Given the description of an element on the screen output the (x, y) to click on. 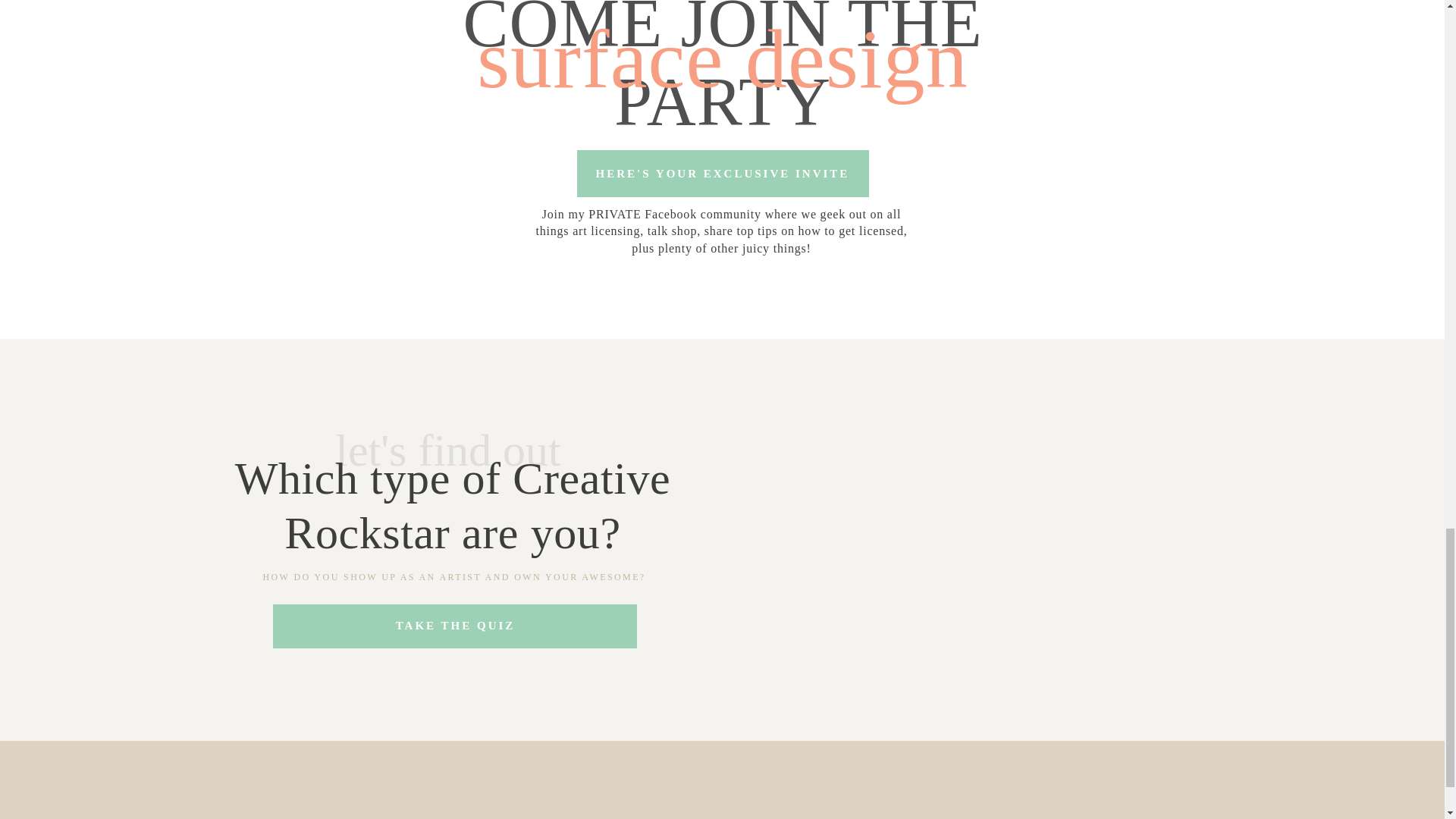
HERE'S YOUR EXCLUSIVE INVITE (721, 172)
TAKE THE QUIZ (455, 625)
